Given the description of an element on the screen output the (x, y) to click on. 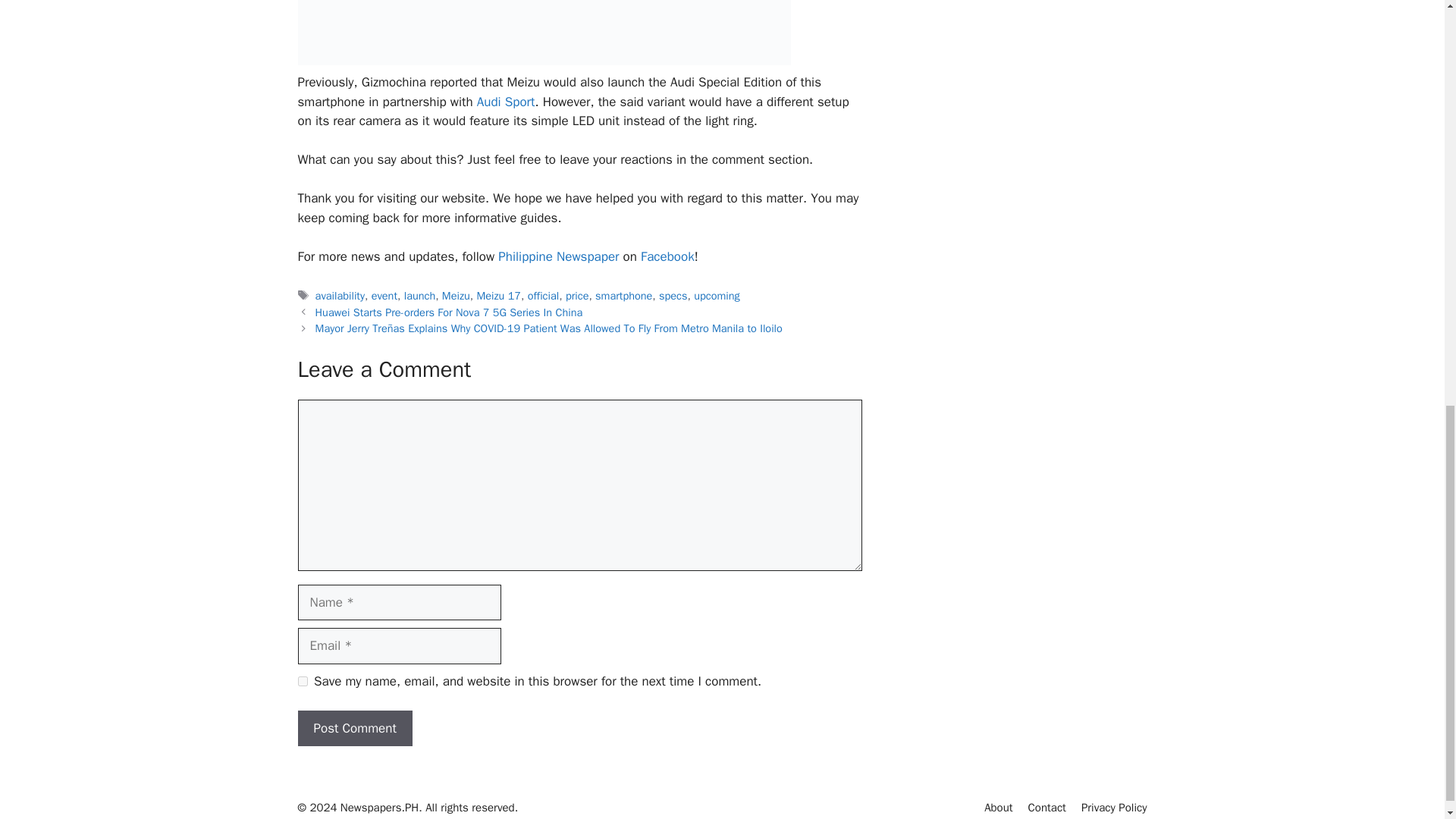
yes (302, 681)
Post Comment (354, 728)
